Given the description of an element on the screen output the (x, y) to click on. 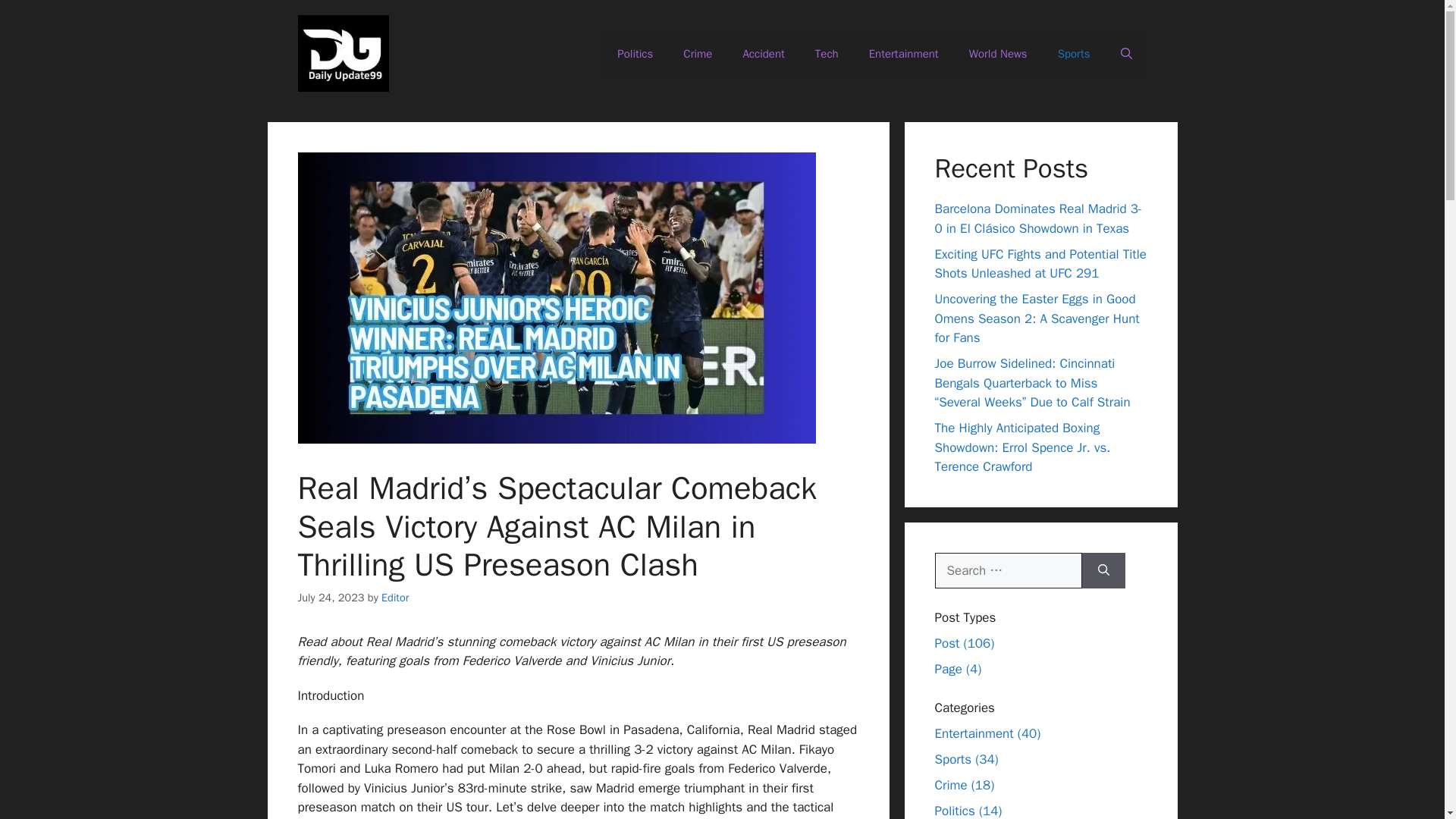
Search for: (1007, 570)
Crime (697, 53)
Editor (395, 597)
Politics (635, 53)
World News (997, 53)
Accident (762, 53)
Tech (826, 53)
Entertainment (903, 53)
View all posts by Editor (395, 597)
Sports (1073, 53)
